Given the description of an element on the screen output the (x, y) to click on. 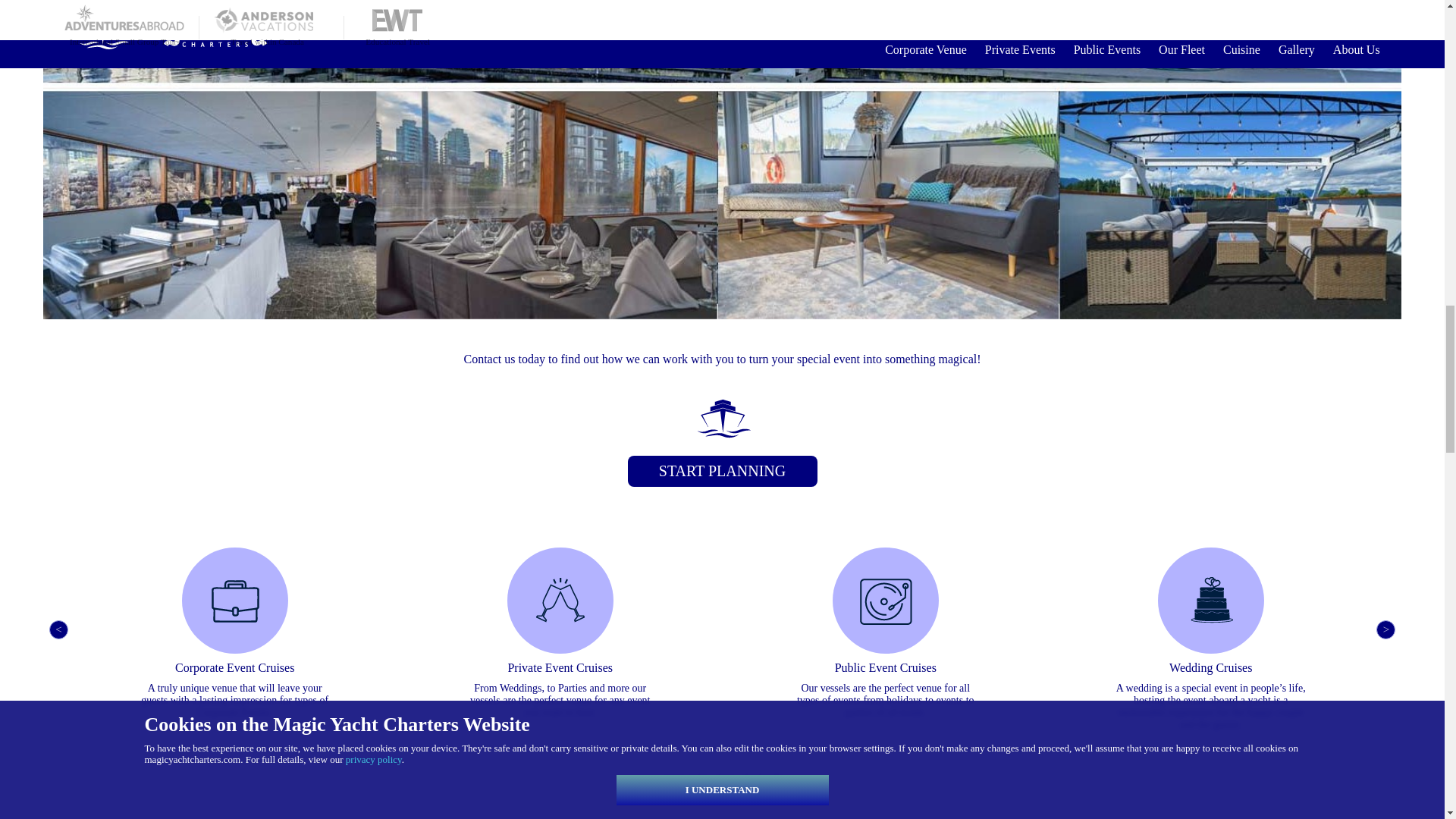
START PLANNING (721, 470)
